Given the description of an element on the screen output the (x, y) to click on. 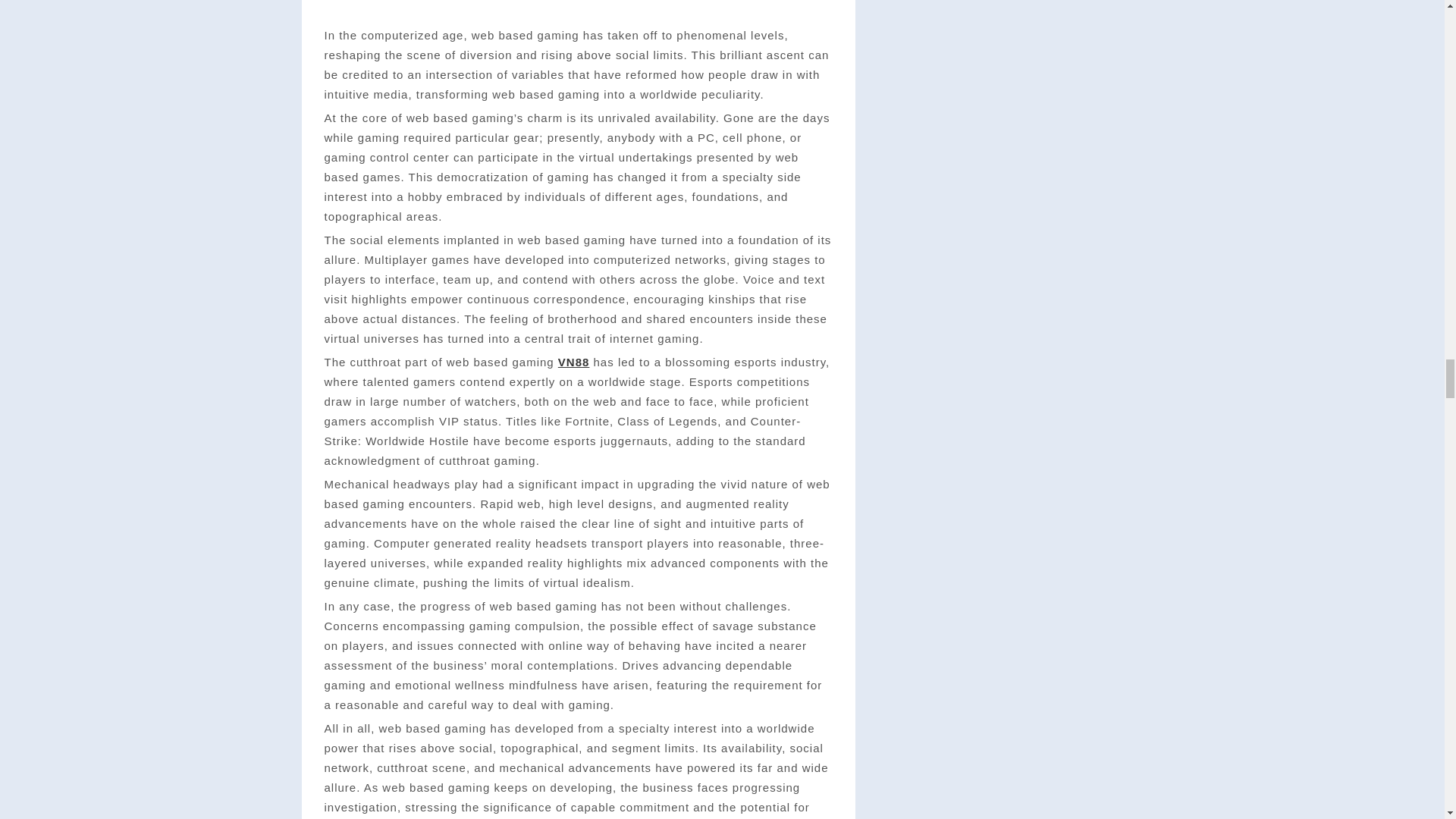
VN88 (573, 361)
